Given the description of an element on the screen output the (x, y) to click on. 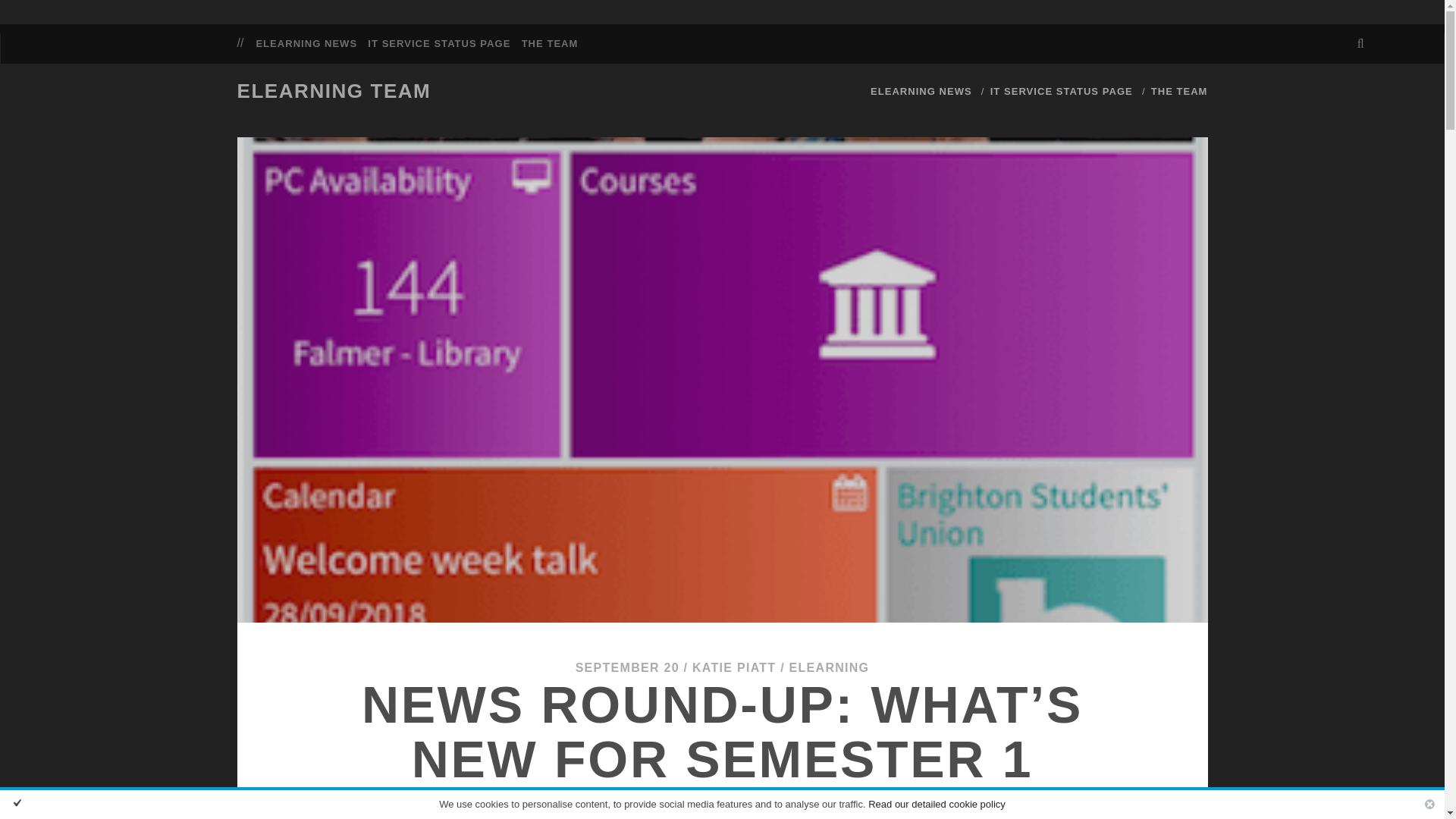
ELEARNING NEWS (921, 91)
IT SERVICE STATUS PAGE (439, 44)
IT SERVICE STATUS PAGE (1061, 91)
ELEARNING NEWS (306, 44)
KATIE PIATT (734, 667)
THE TEAM (1179, 91)
news (921, 91)
news (306, 44)
Posts by Katie Piatt (734, 667)
ELEARNING (829, 667)
THE TEAM (549, 44)
ELEARNING TEAM (332, 90)
eLEARNING TEAM (332, 90)
